Given the description of an element on the screen output the (x, y) to click on. 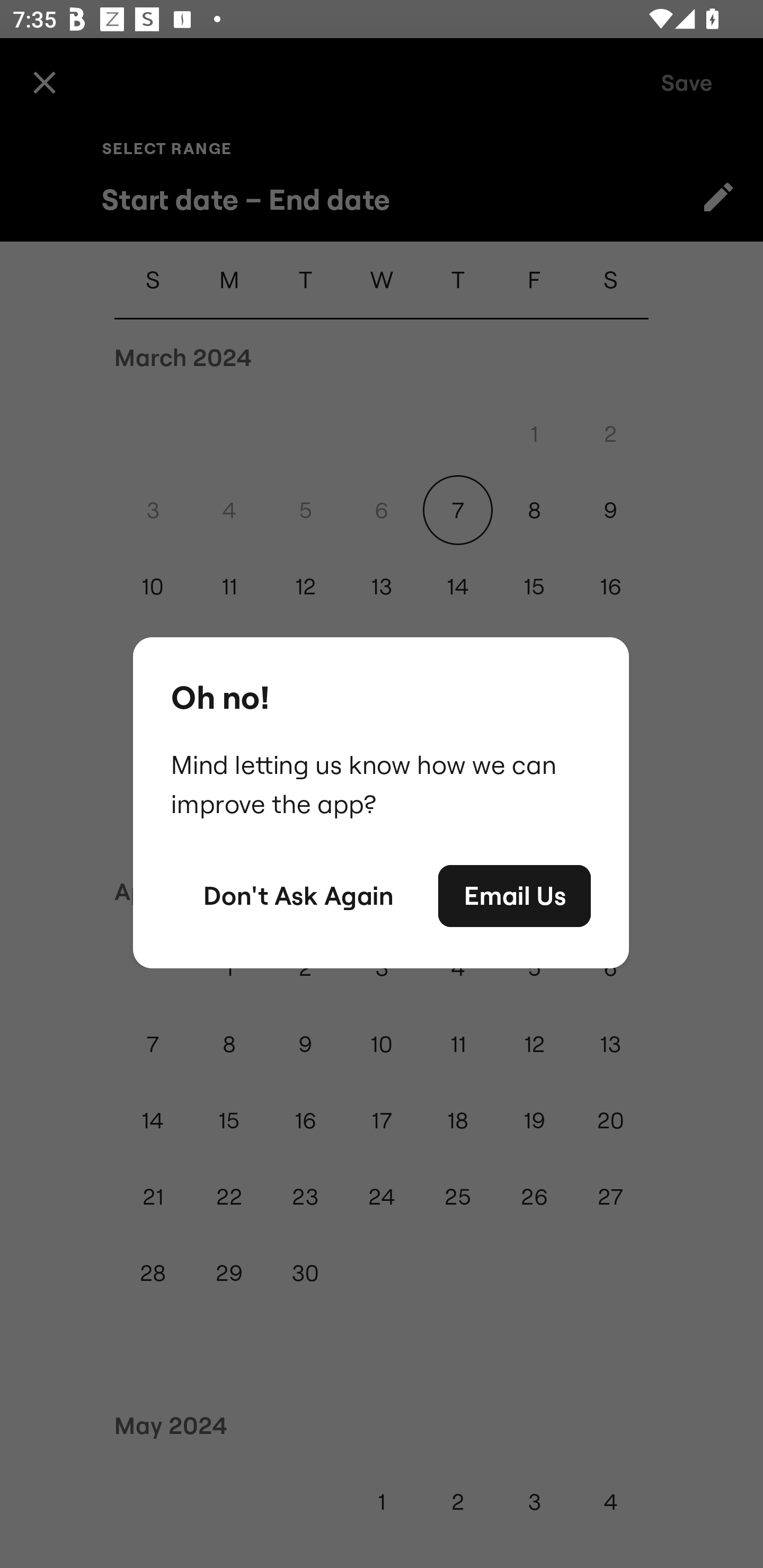
Don't Ask Again (297, 896)
Email Us (513, 896)
